Given the description of an element on the screen output the (x, y) to click on. 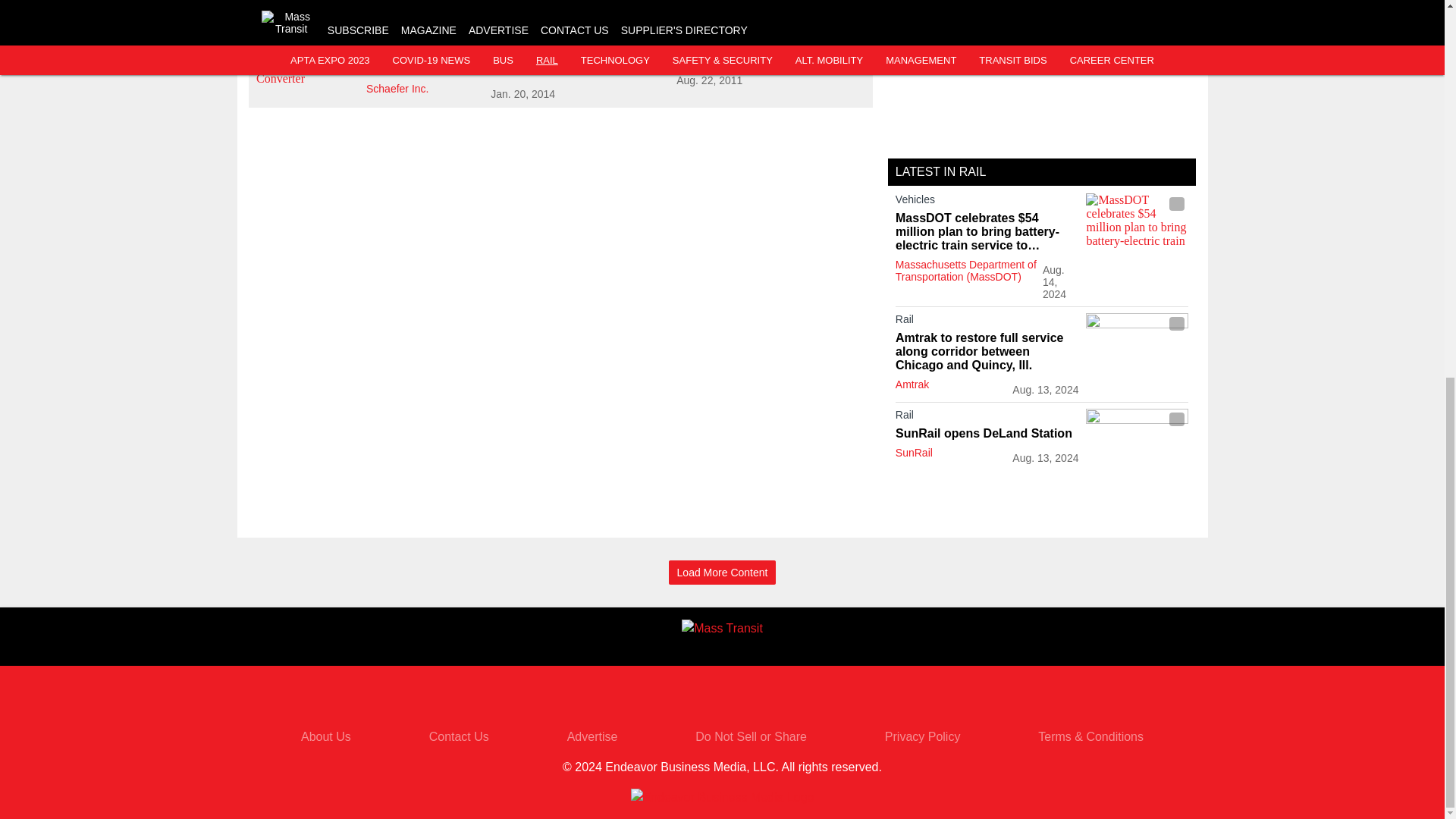
Logowithslogan2 10265115 (617, 59)
Vehicles (986, 202)
Rail (986, 321)
Schaefer Inc. (396, 88)
Rail (770, 40)
Schaefer Inc. (770, 56)
LATEST IN RAIL (940, 171)
Rail (459, 40)
